Given the description of an element on the screen output the (x, y) to click on. 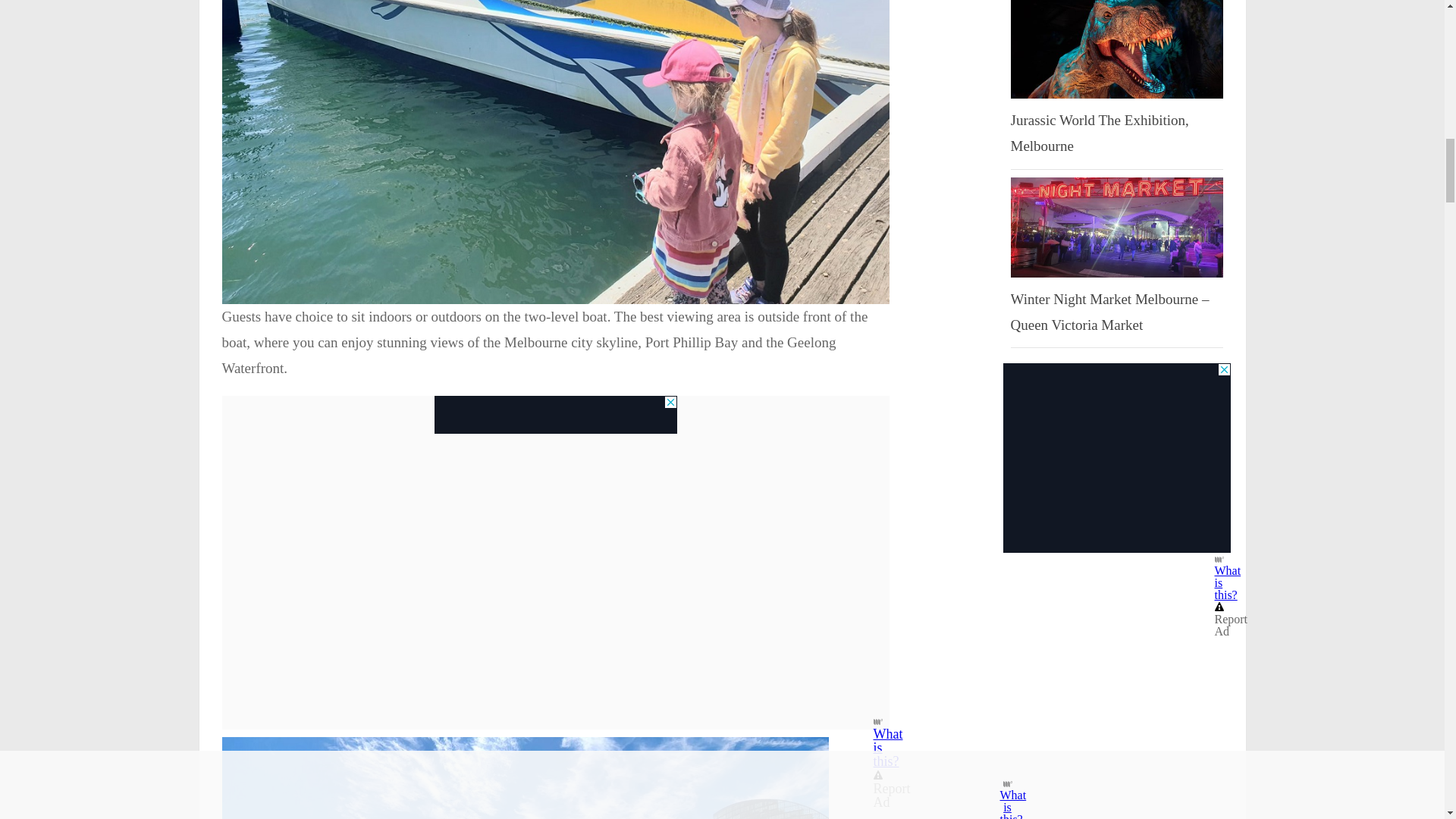
3rd party ad content (1116, 457)
3rd party ad content (555, 414)
